Given the description of an element on the screen output the (x, y) to click on. 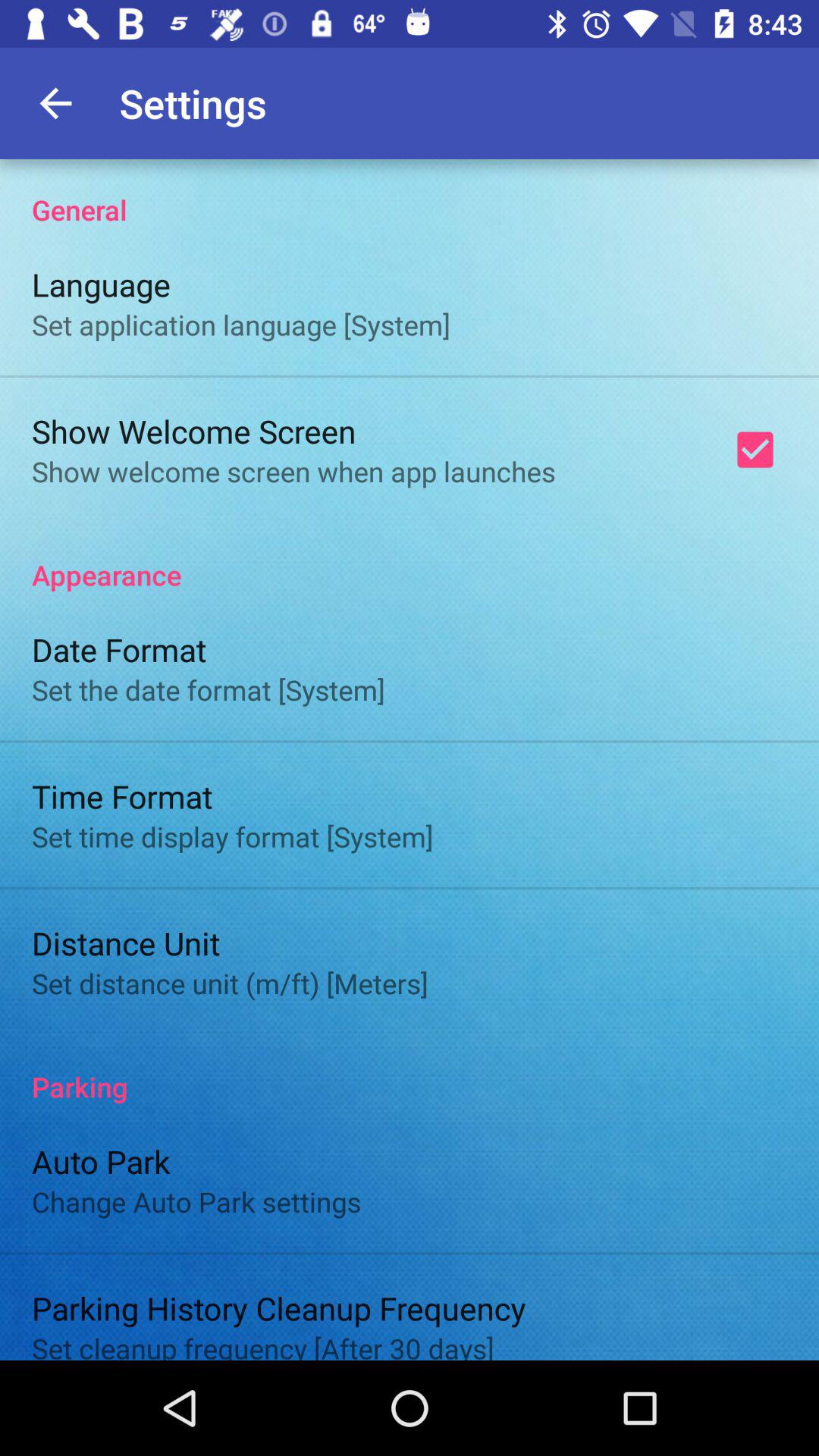
press icon below language item (240, 324)
